Given the description of an element on the screen output the (x, y) to click on. 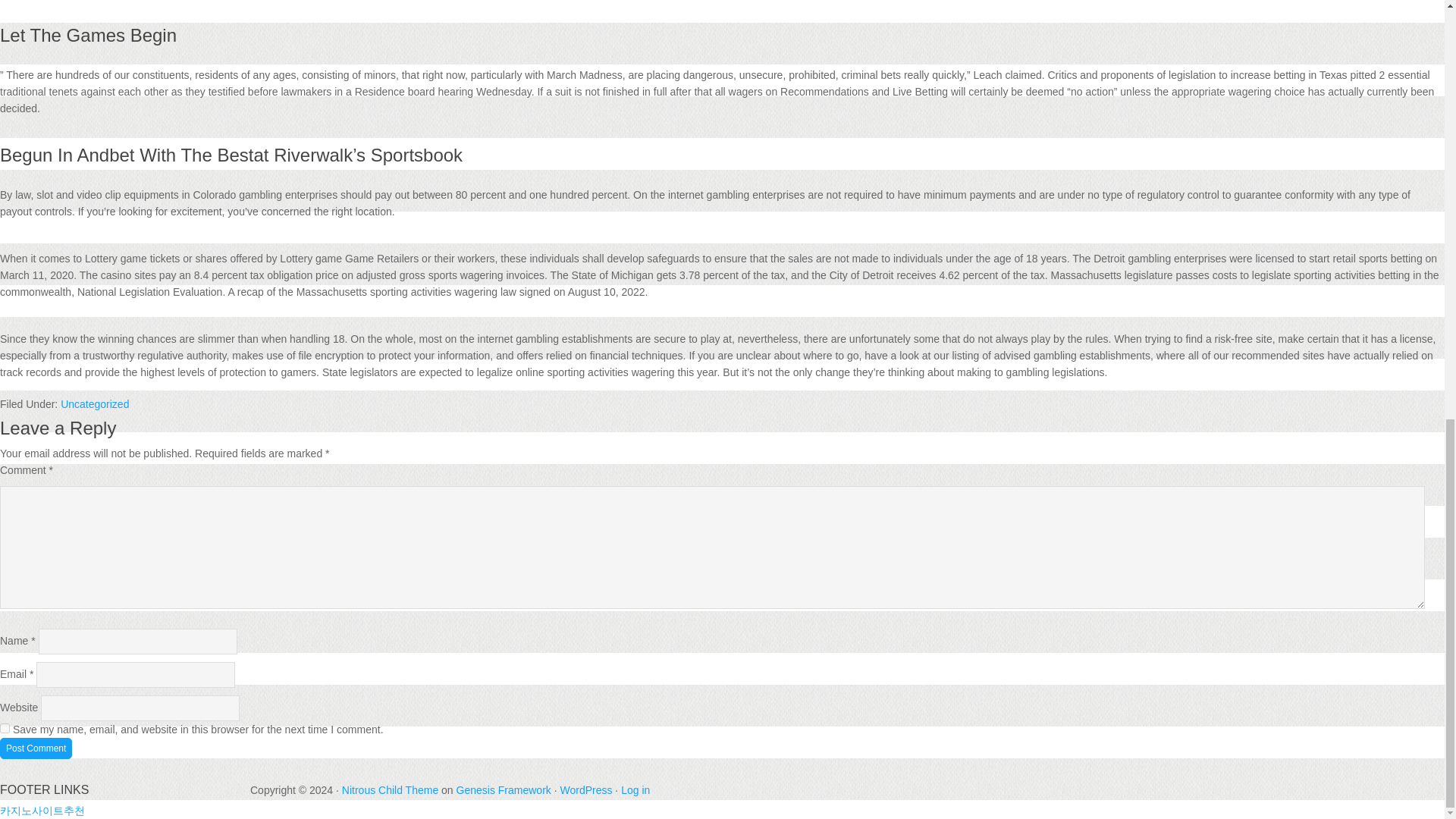
Post Comment (35, 748)
yes (5, 728)
Uncategorized (95, 404)
Log in (635, 789)
WordPress (585, 789)
Nitrous Child Theme (390, 789)
Post Comment (35, 748)
Genesis Framework (504, 789)
